Given the description of an element on the screen output the (x, y) to click on. 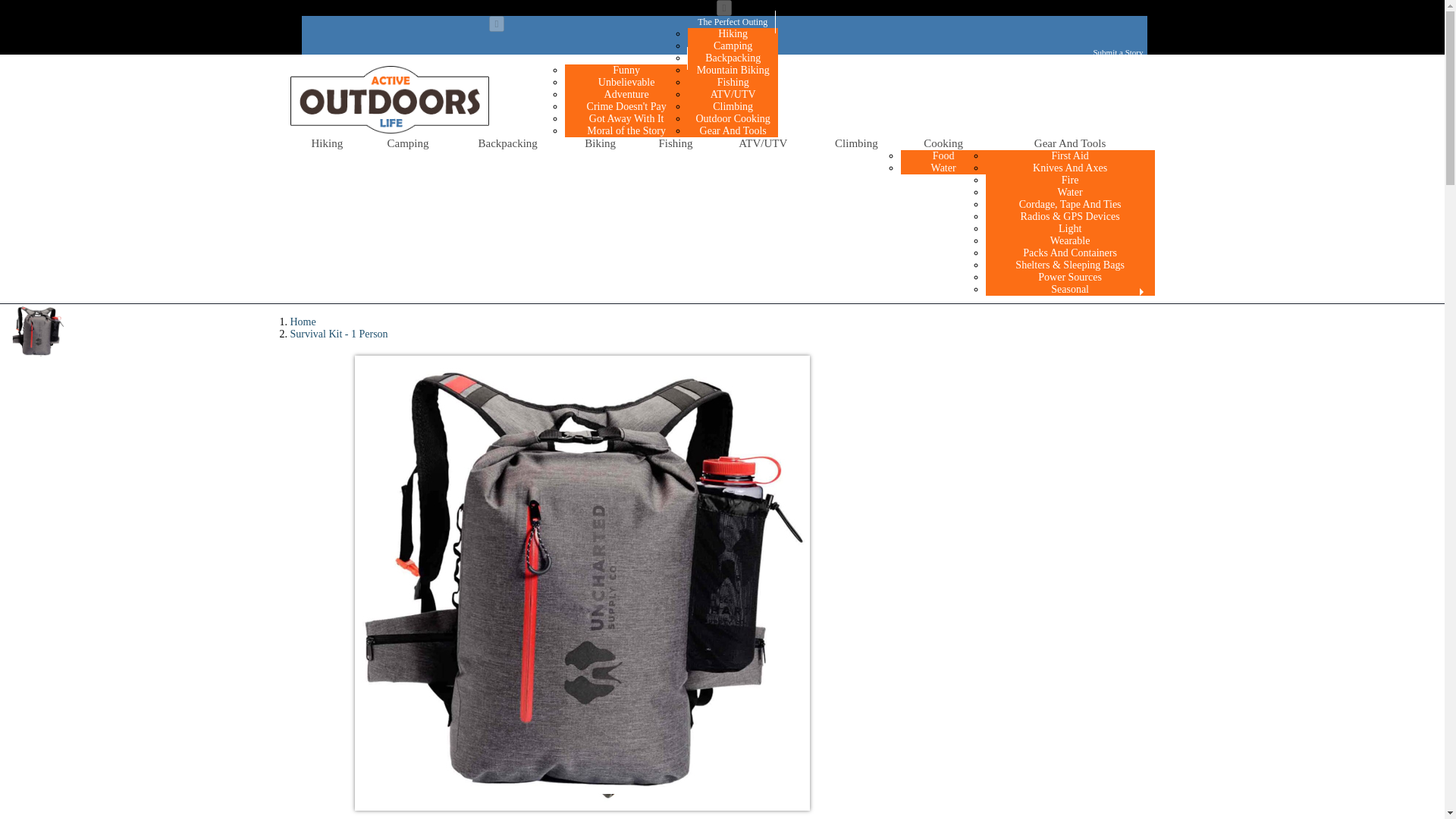
Moral of the Story (625, 130)
120 Day Trail Challenge (830, 130)
Backpacking (732, 57)
Blog: Trail Adventure Stories (626, 57)
Submit a Story (1117, 51)
The Perfect Outing (733, 21)
Camping (733, 45)
Knives And Axes (1070, 167)
Fishing (675, 143)
First Aid (1069, 155)
Cordage, Tape And Ties (1070, 203)
Unbelievable (626, 81)
Camping (408, 143)
Water (1069, 191)
Crime Doesn't Pay (626, 106)
